Given the description of an element on the screen output the (x, y) to click on. 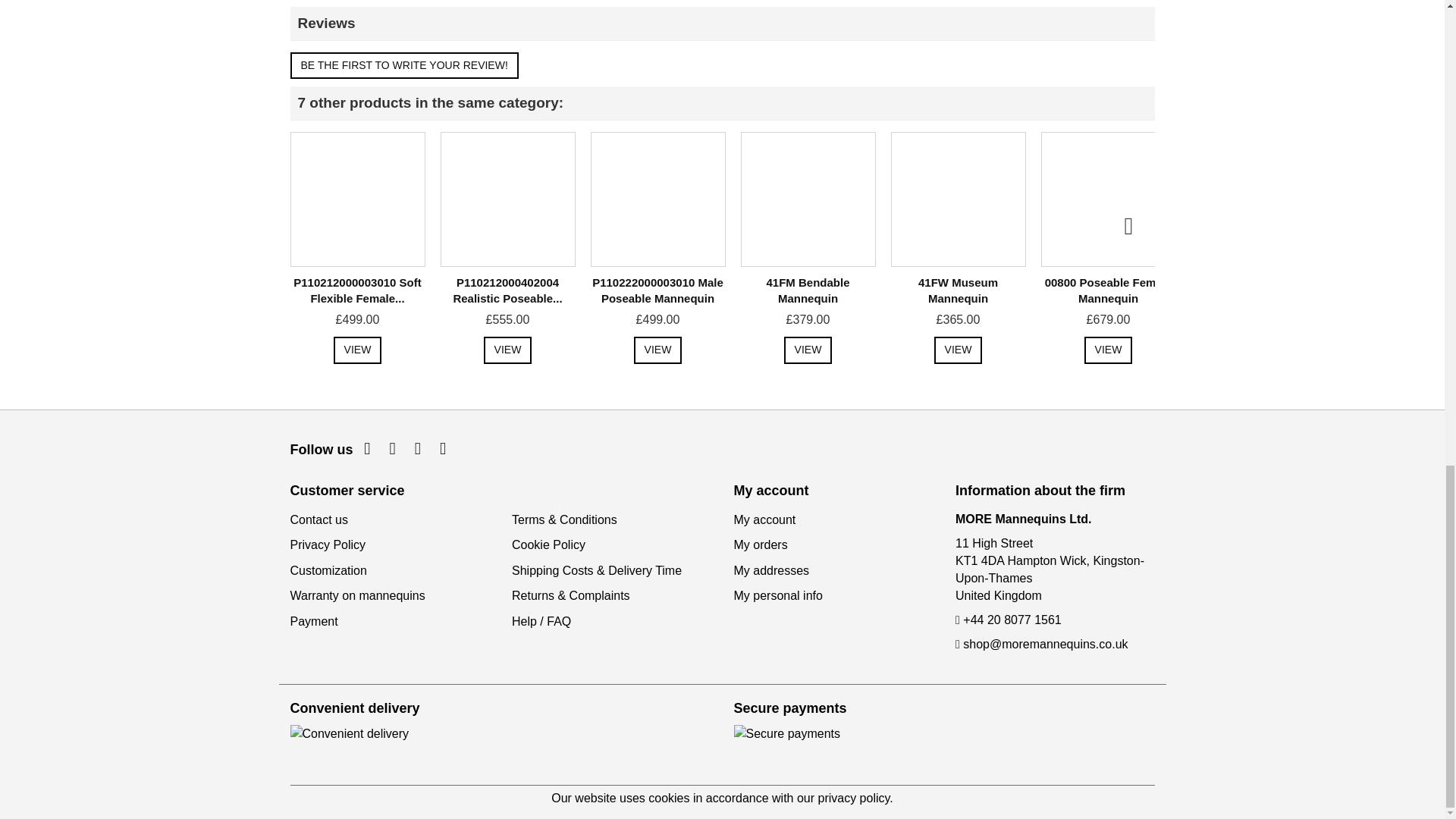
P110212000402004 Realistic Poseable... (507, 290)
VIEW (507, 349)
VIEW (357, 349)
P110212000003010 Soft Flexible Female... (357, 290)
BE THE FIRST TO WRITE YOUR REVIEW! (403, 65)
